Given the description of an element on the screen output the (x, y) to click on. 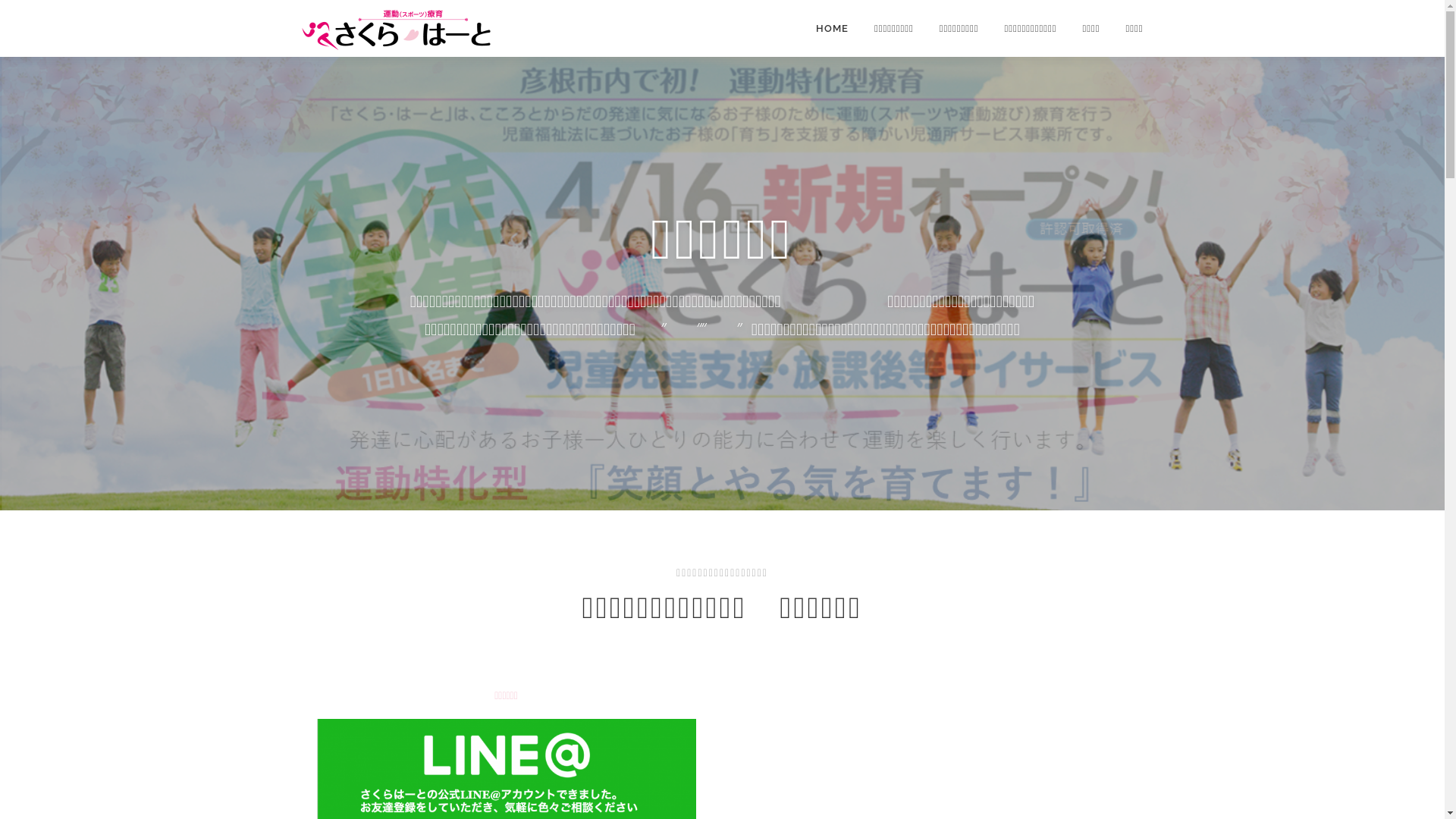
HOME Element type: text (832, 28)
